Given the description of an element on the screen output the (x, y) to click on. 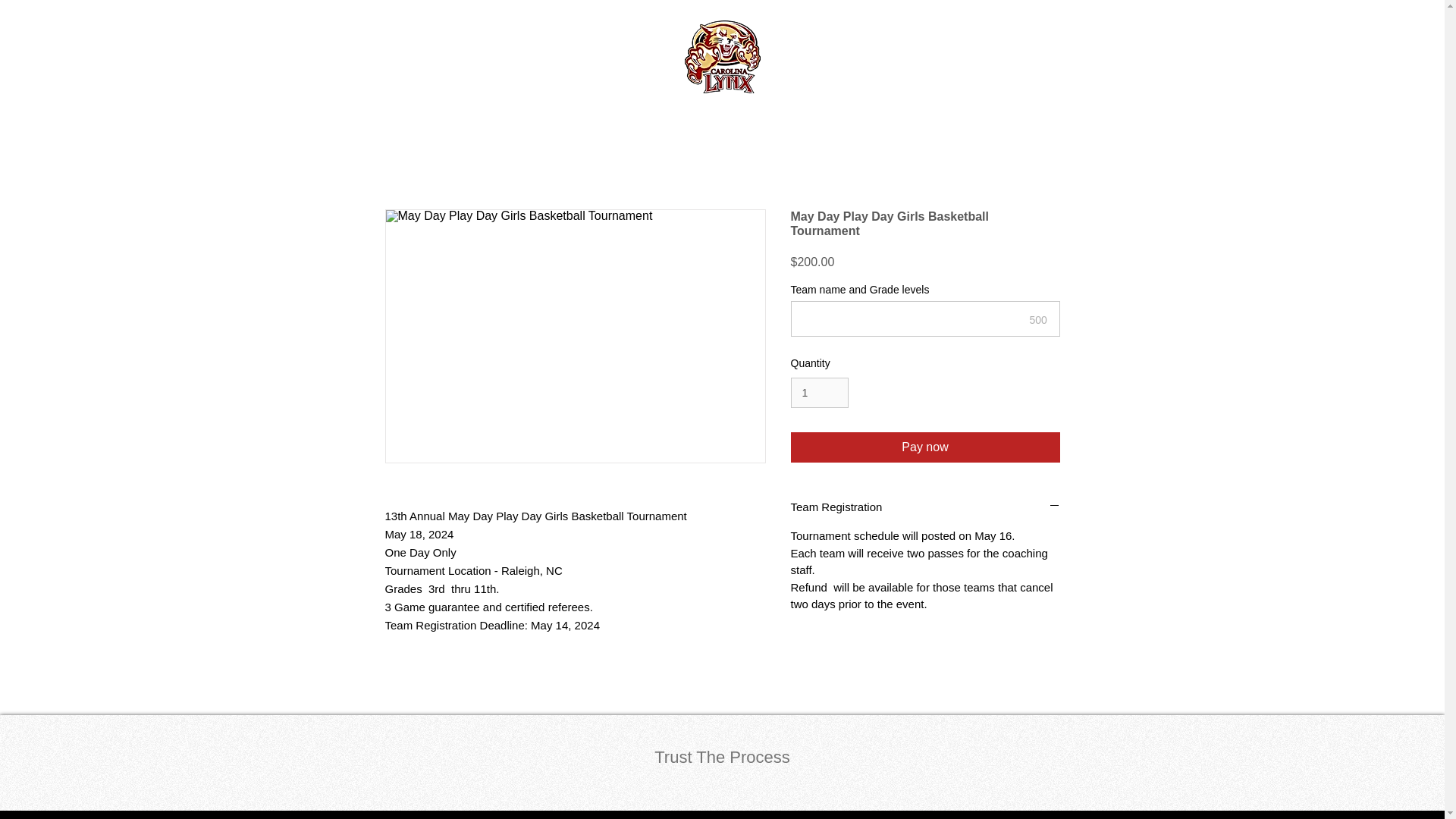
1 (818, 392)
Team Registration (924, 506)
Pay now (924, 447)
